Given the description of an element on the screen output the (x, y) to click on. 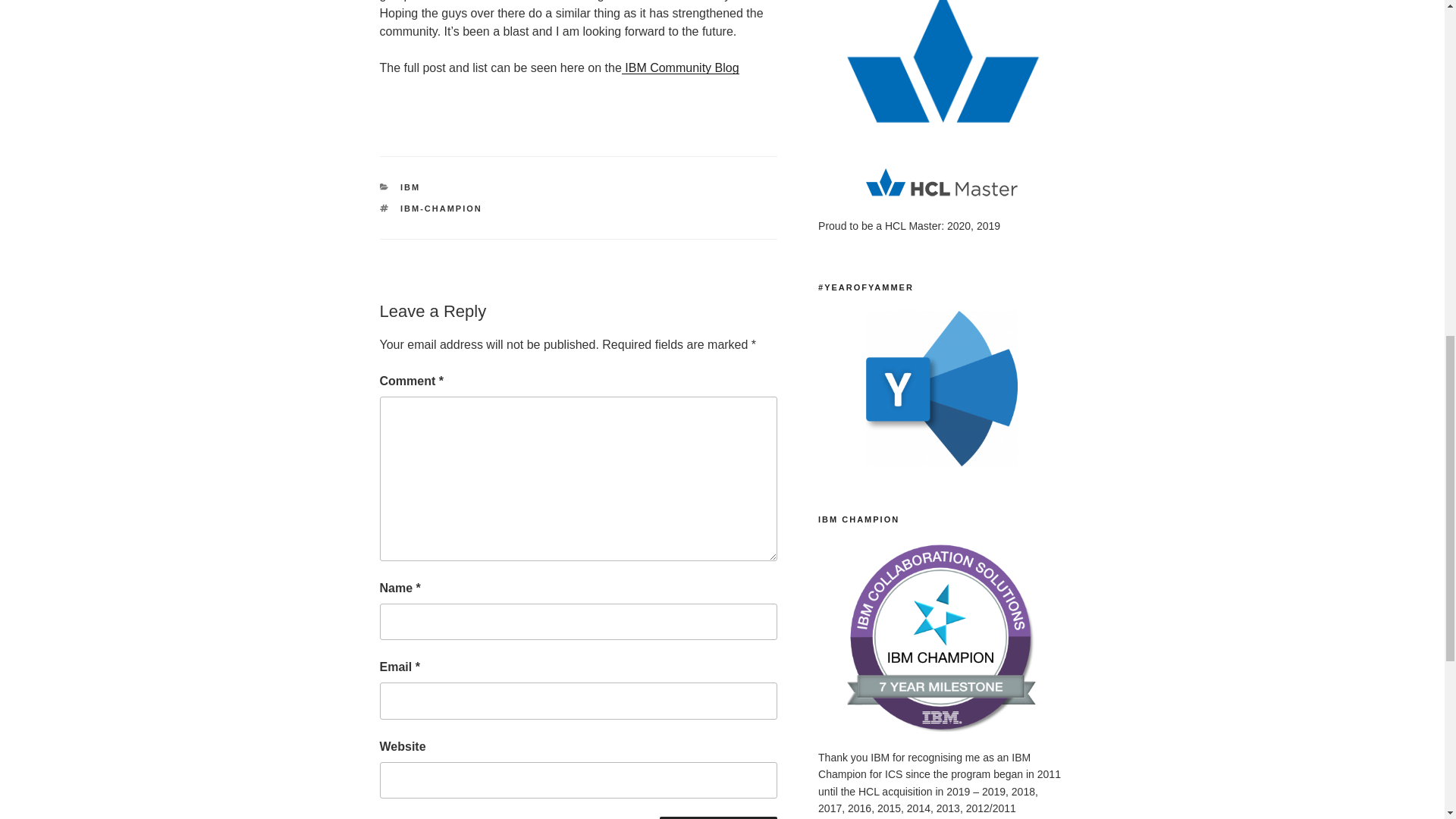
IBM (410, 186)
Post Comment (718, 817)
Post Comment (718, 817)
IBM-CHAMPION (440, 207)
IBM Community Blog (680, 67)
